Given the description of an element on the screen output the (x, y) to click on. 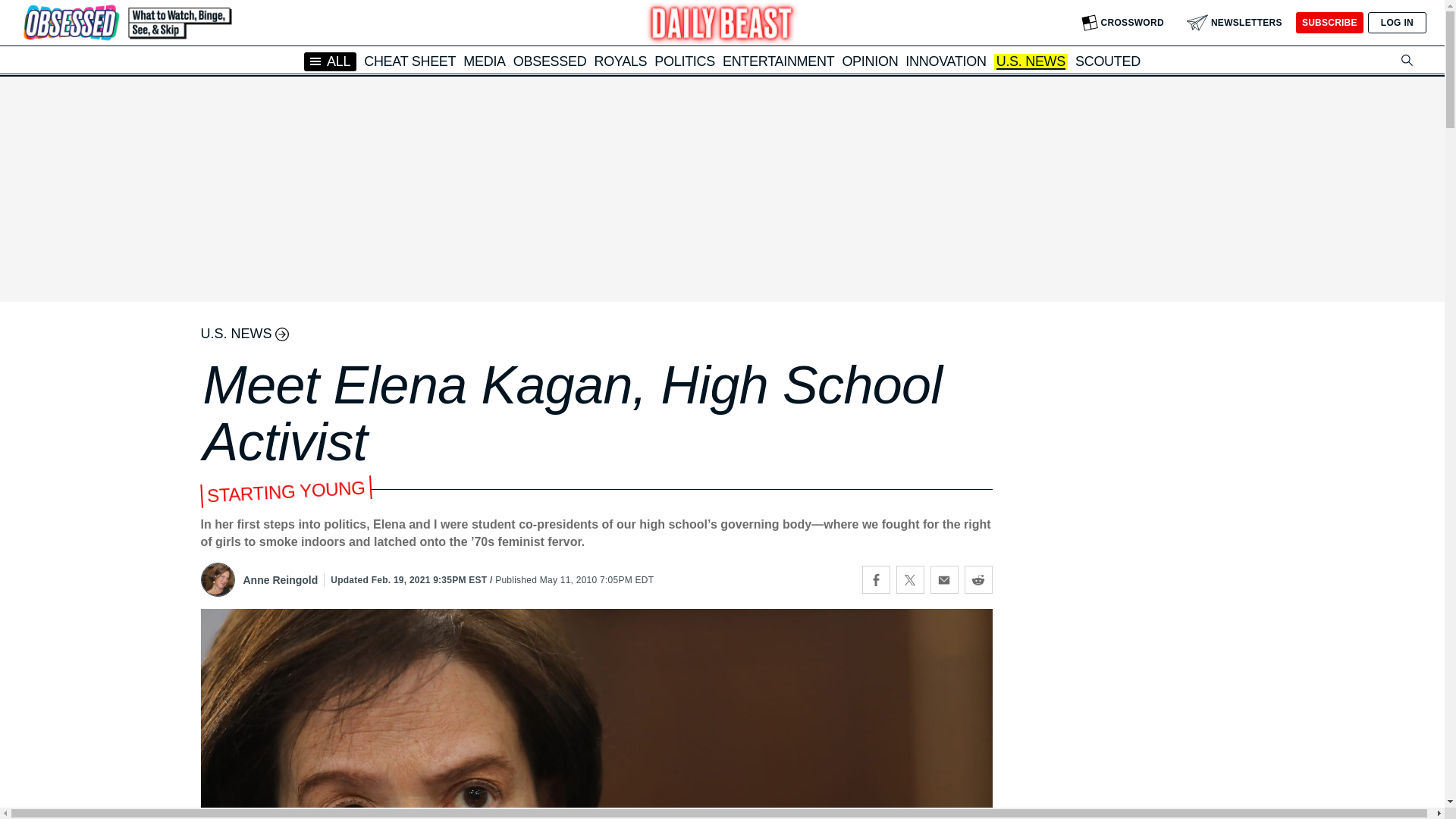
MEDIA (484, 60)
ALL (330, 60)
POLITICS (683, 60)
SUBSCRIBE (1328, 22)
CROSSWORD (1122, 22)
U.S. NEWS (1030, 61)
SCOUTED (1107, 60)
NEWSLETTERS (1234, 22)
ROYALS (620, 60)
INNOVATION (945, 60)
OBSESSED (549, 60)
ENTERTAINMENT (778, 60)
CHEAT SHEET (409, 60)
